Given the description of an element on the screen output the (x, y) to click on. 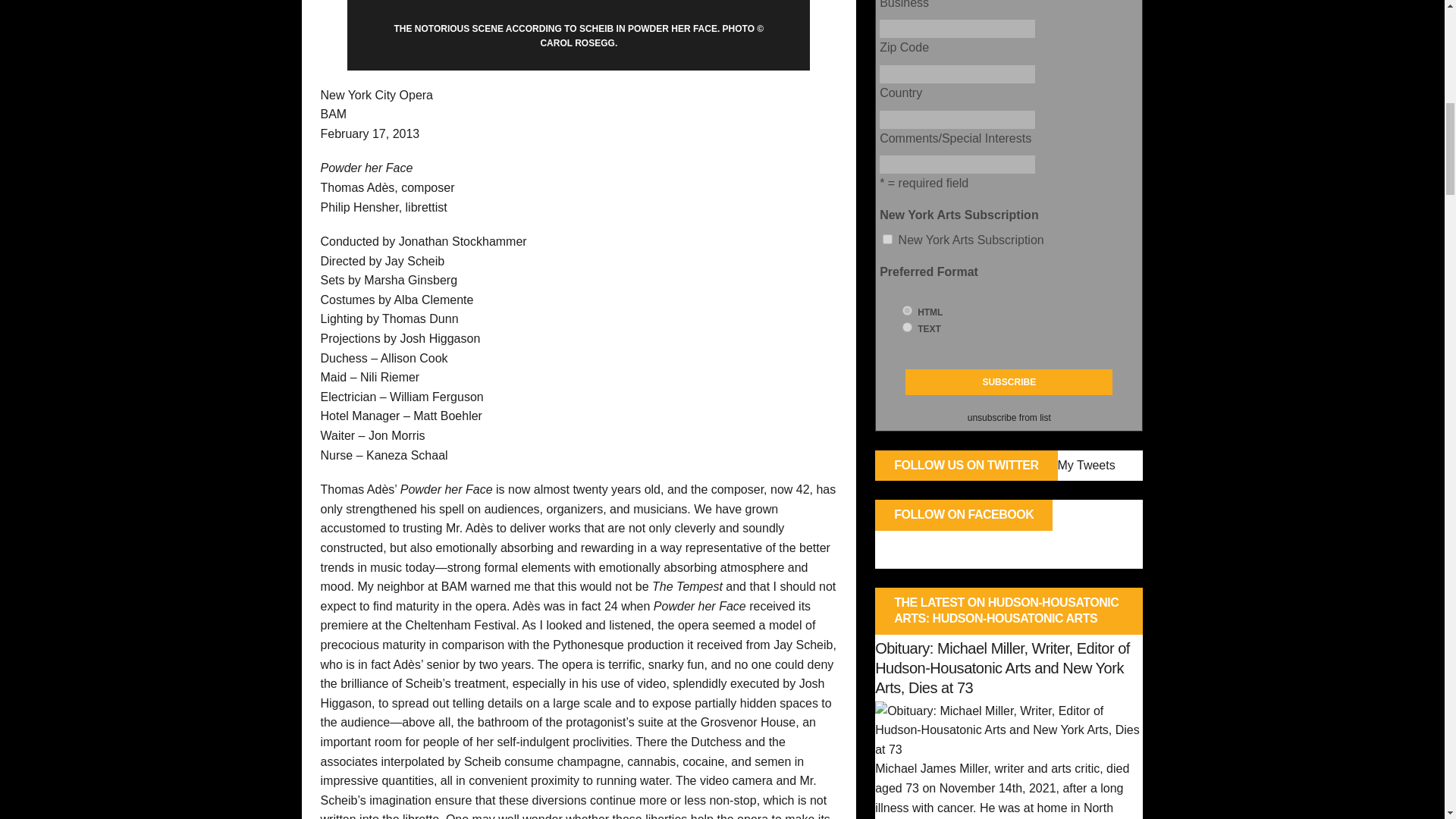
New York Arts Subscription (887, 239)
html (907, 310)
Subscribe (1008, 381)
text (907, 327)
